Given the description of an element on the screen output the (x, y) to click on. 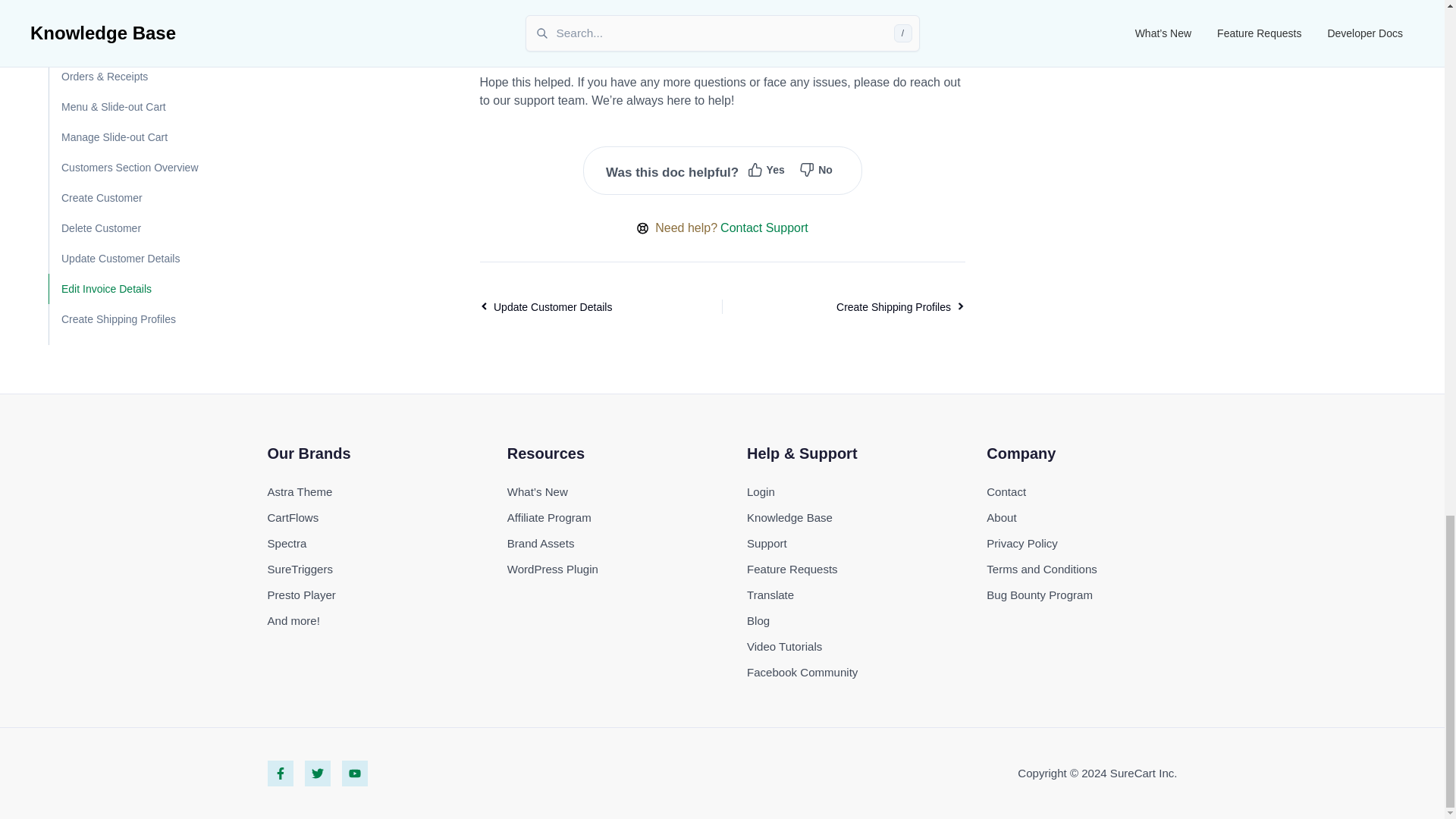
Update Customer Details (575, 306)
Create Shipping Profiles (866, 306)
